Given the description of an element on the screen output the (x, y) to click on. 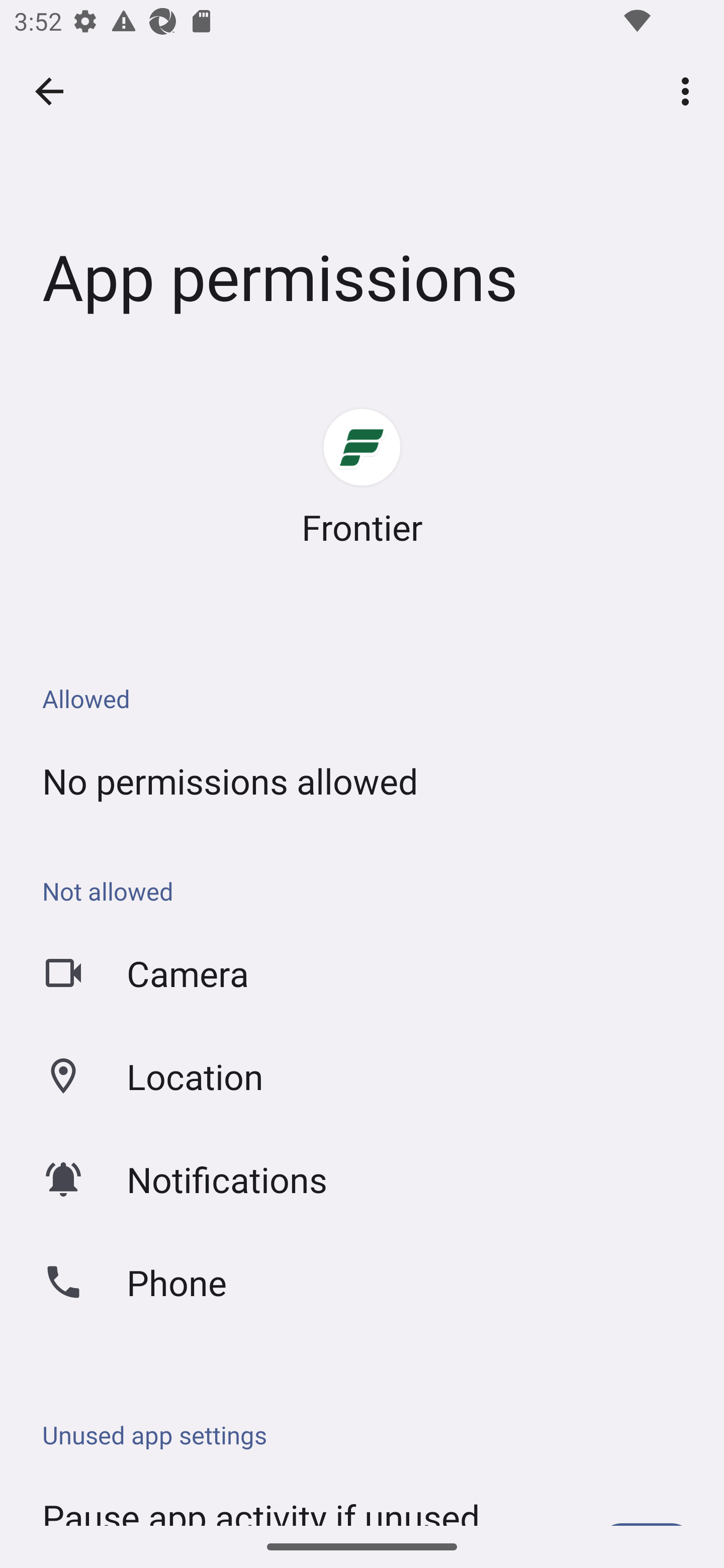
Back (49, 91)
More options (688, 90)
Camera (362, 973)
Location (362, 1076)
Notifications (362, 1178)
Phone (362, 1282)
